Given the description of an element on the screen output the (x, y) to click on. 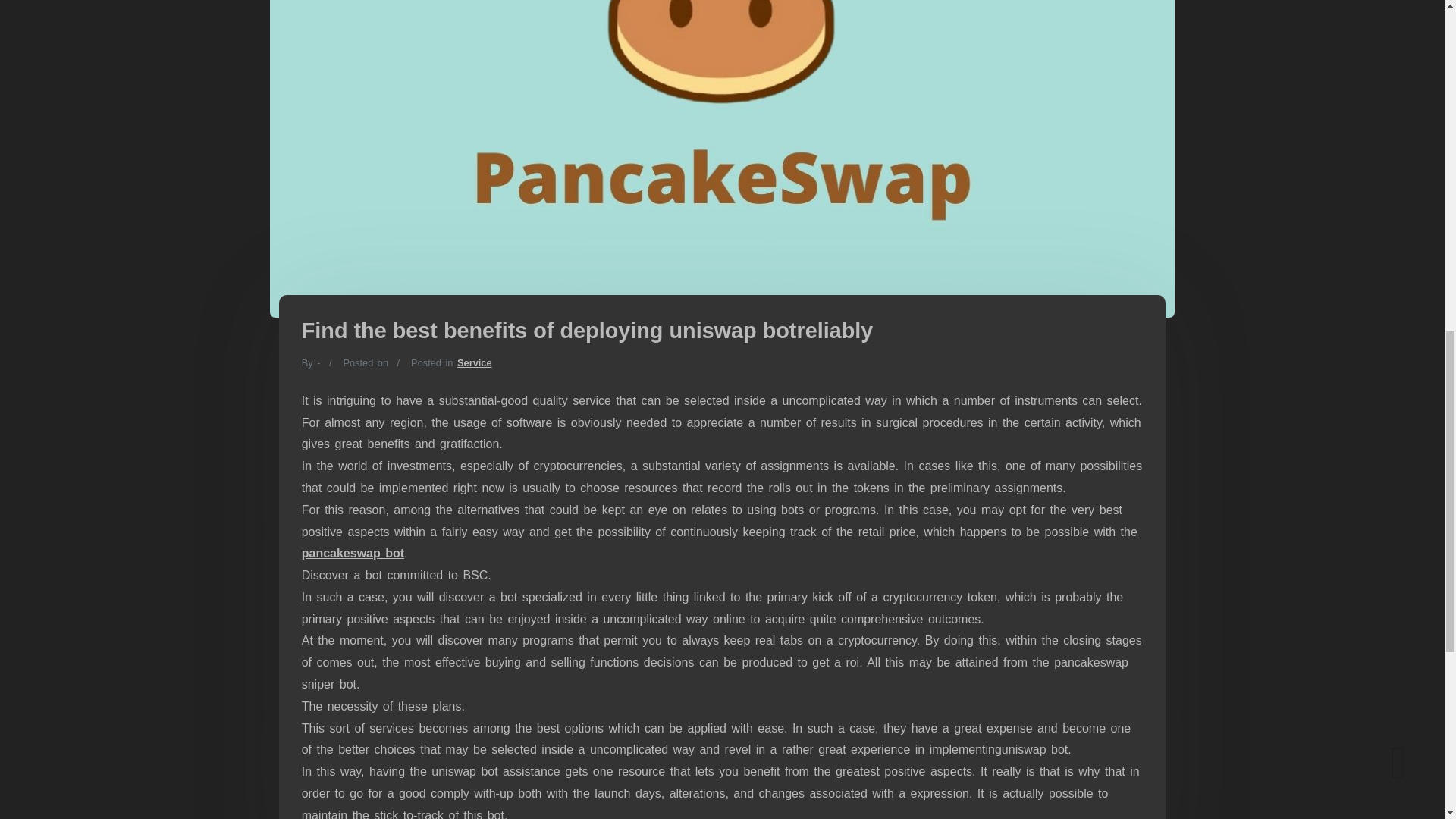
Service (474, 362)
pancakeswap bot (352, 553)
